Given the description of an element on the screen output the (x, y) to click on. 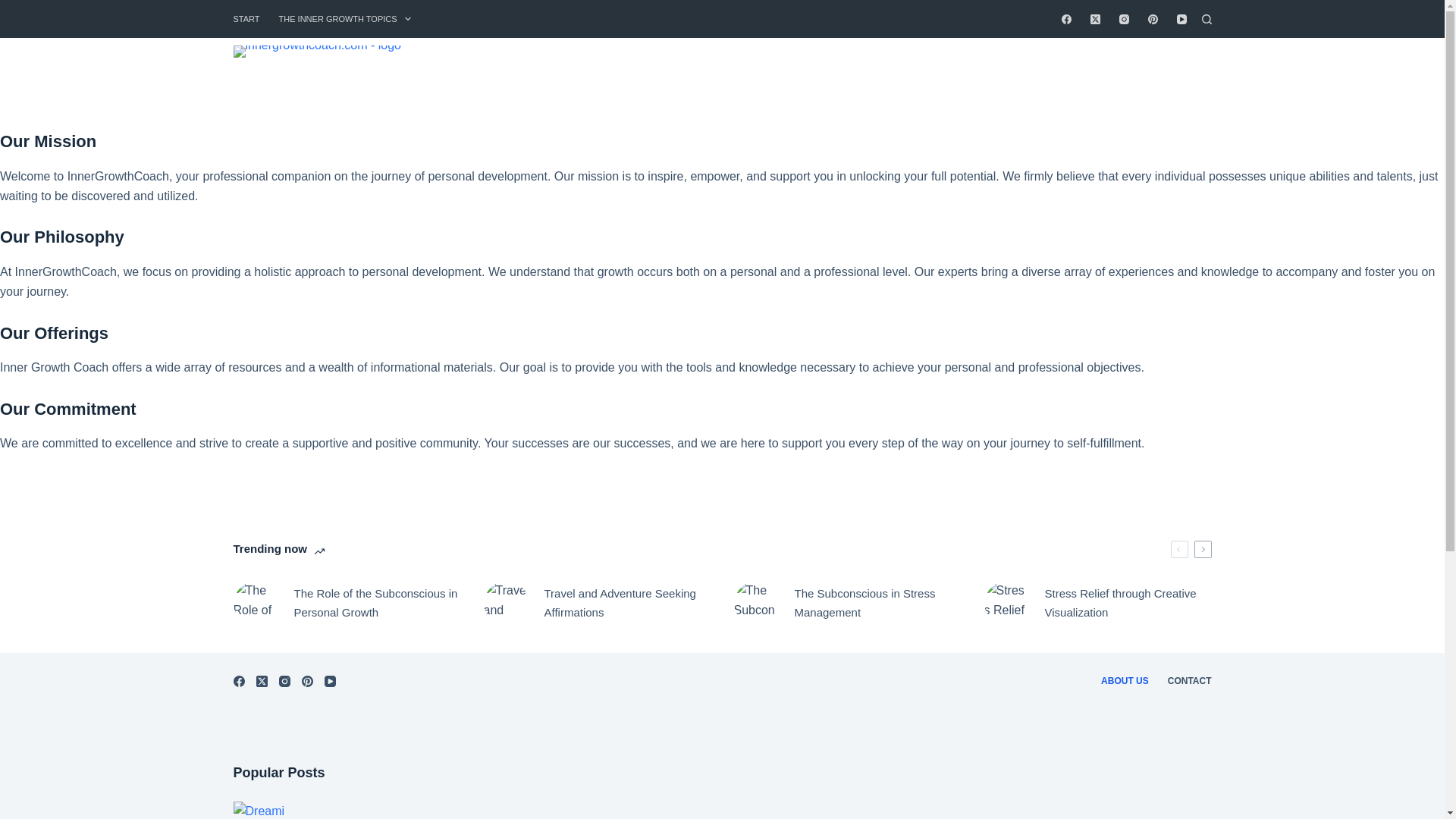
Skip to content (15, 7)
